Given the description of an element on the screen output the (x, y) to click on. 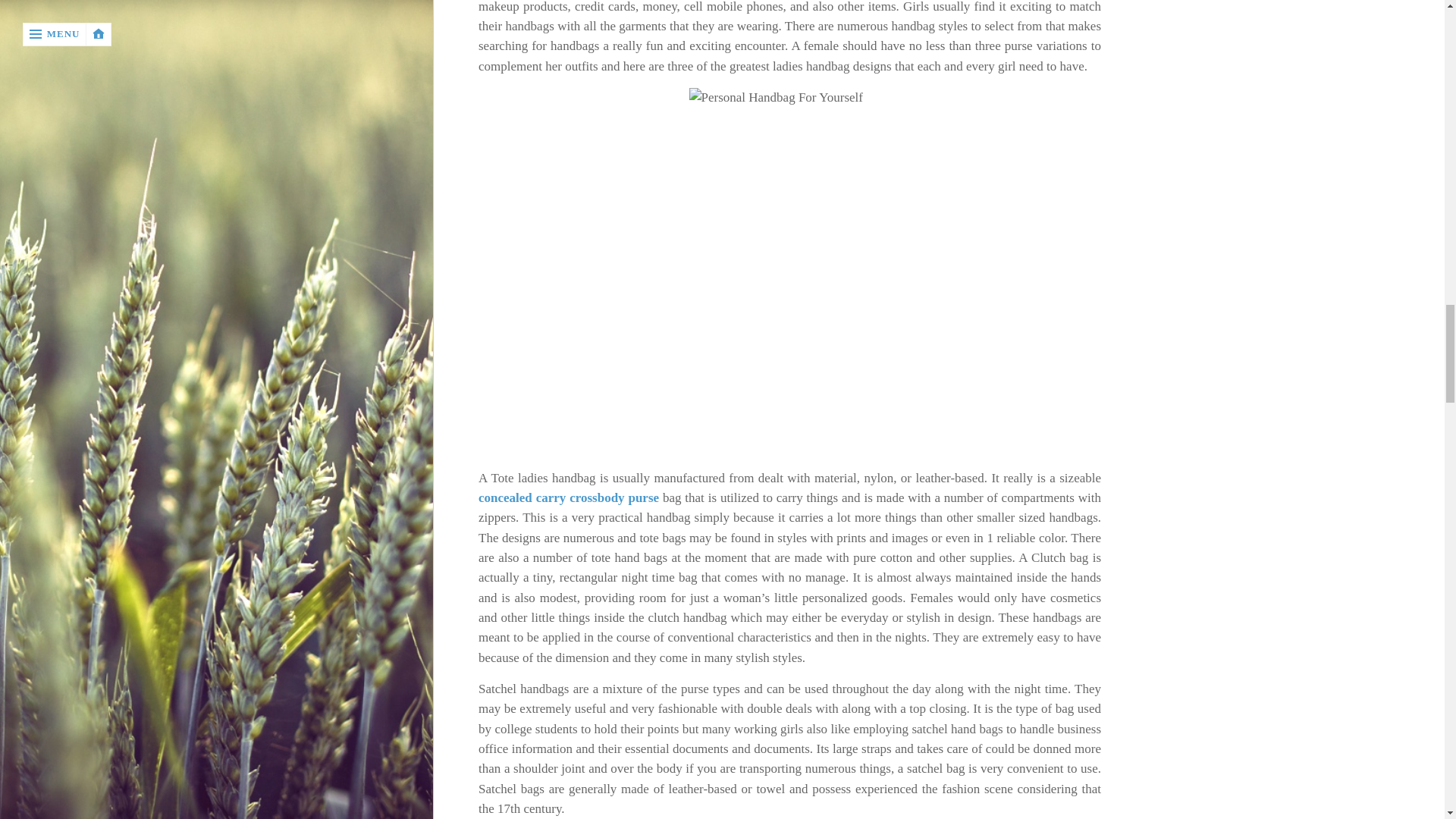
concealed carry crossbody purse (569, 497)
